Given the description of an element on the screen output the (x, y) to click on. 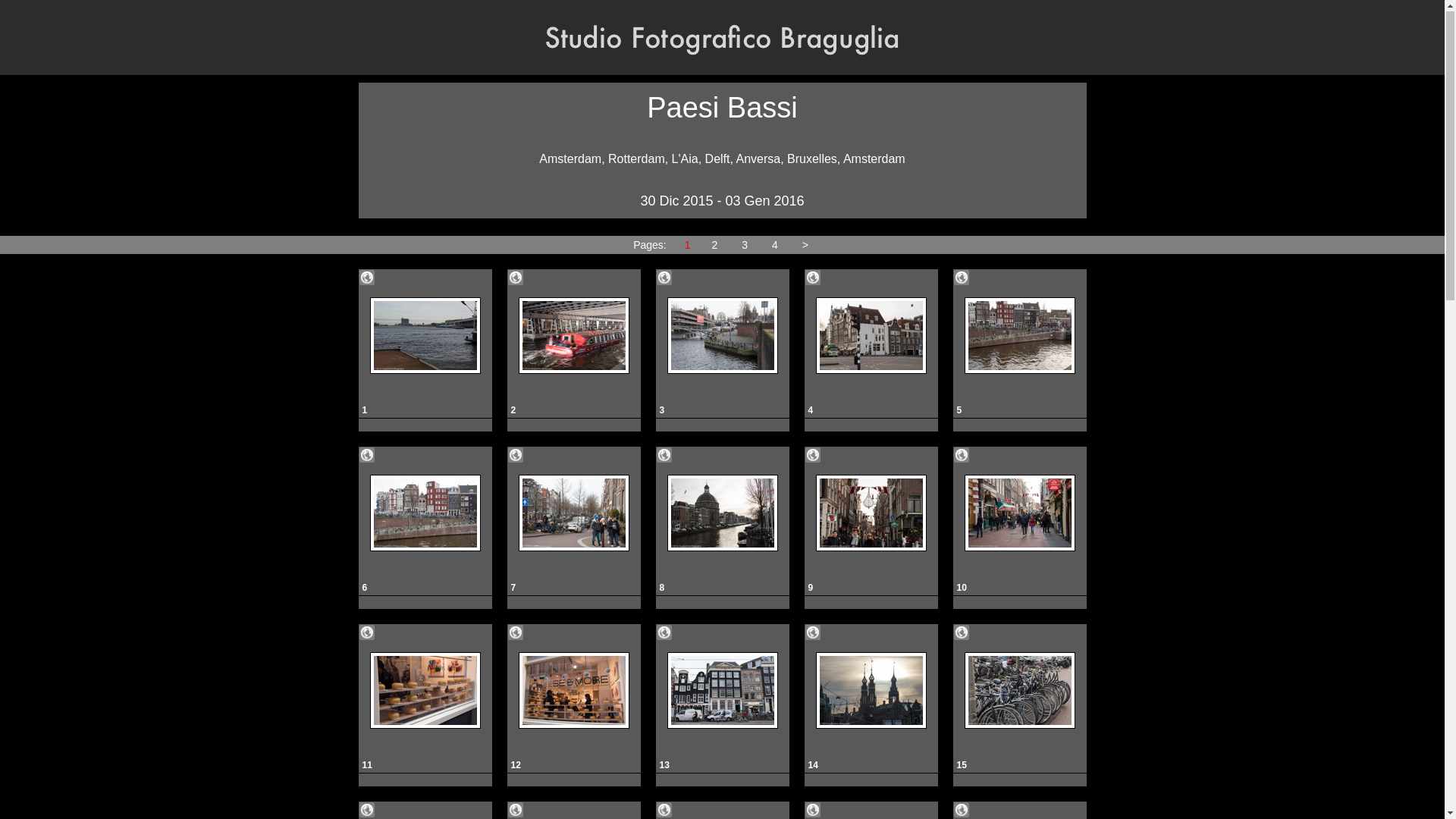
View Location on Google Maps Element type: hover (663, 455)
View Location on Google Maps Element type: hover (366, 277)
View Location on Google Maps Element type: hover (812, 455)
3 Element type: text (744, 245)
> Element type: text (805, 245)
View Location on Google Maps Element type: hover (515, 632)
View Location on Google Maps Element type: hover (366, 632)
View Location on Google Maps Element type: hover (961, 632)
2 Element type: text (715, 245)
View Location on Google Maps Element type: hover (366, 810)
View Location on Google Maps Element type: hover (961, 277)
View Location on Google Maps Element type: hover (812, 632)
4 Element type: text (774, 245)
View Location on Google Maps Element type: hover (366, 455)
View Location on Google Maps Element type: hover (515, 810)
View Location on Google Maps Element type: hover (515, 277)
View Location on Google Maps Element type: hover (961, 455)
View Location on Google Maps Element type: hover (663, 810)
View Location on Google Maps Element type: hover (663, 277)
View Location on Google Maps Element type: hover (812, 810)
View Location on Google Maps Element type: hover (663, 632)
View Location on Google Maps Element type: hover (961, 810)
View Location on Google Maps Element type: hover (812, 277)
View Location on Google Maps Element type: hover (515, 455)
